Given the description of an element on the screen output the (x, y) to click on. 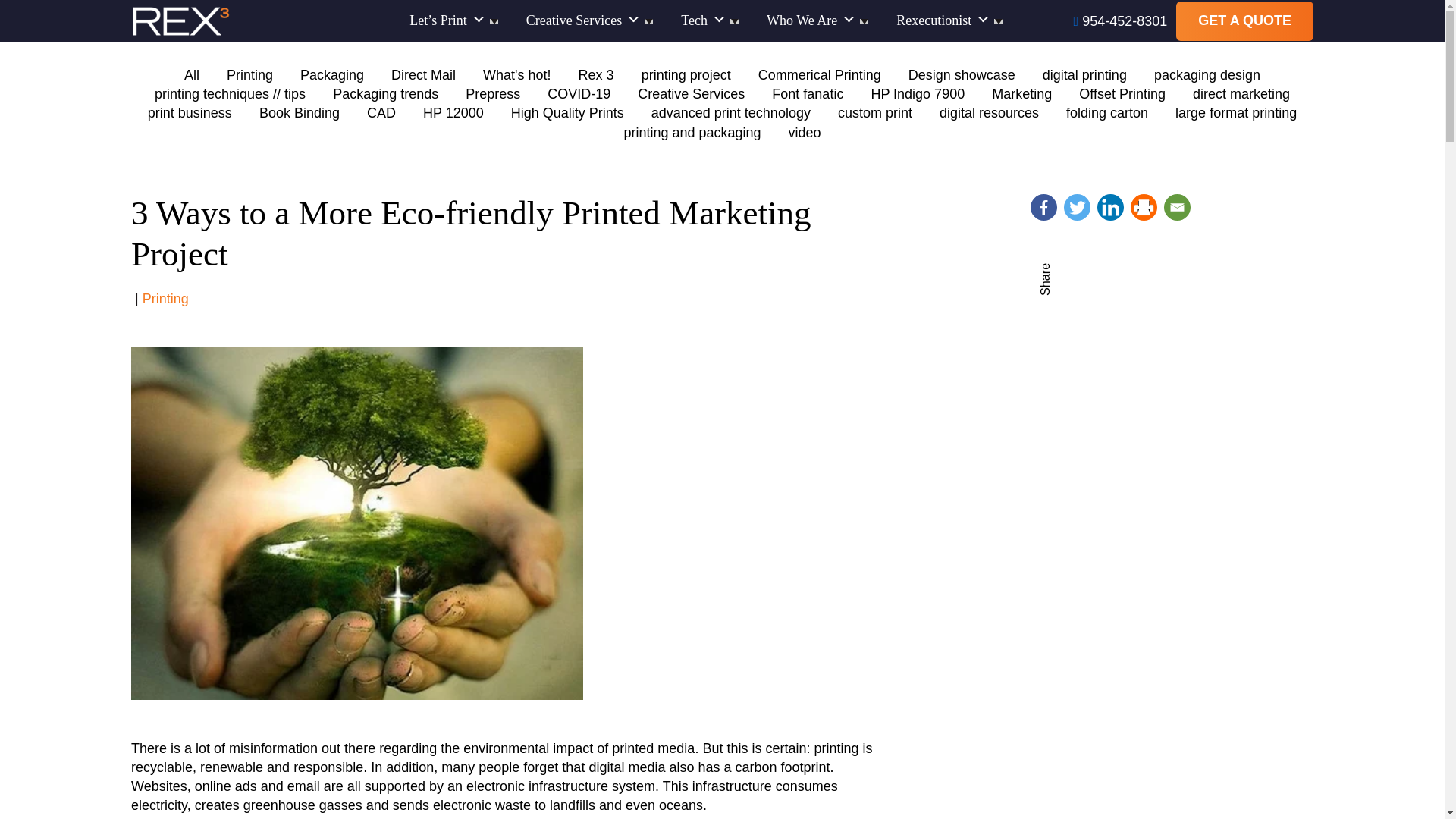
Show submenu for Tech (734, 21)
Show submenu for Who We Are (863, 21)
Tech (703, 20)
Show submenu for Rexecutionist (998, 21)
Creative Services (582, 20)
Who We Are (811, 20)
Rexecutionist (943, 20)
Show submenu for Creative Services (648, 21)
